Given the description of an element on the screen output the (x, y) to click on. 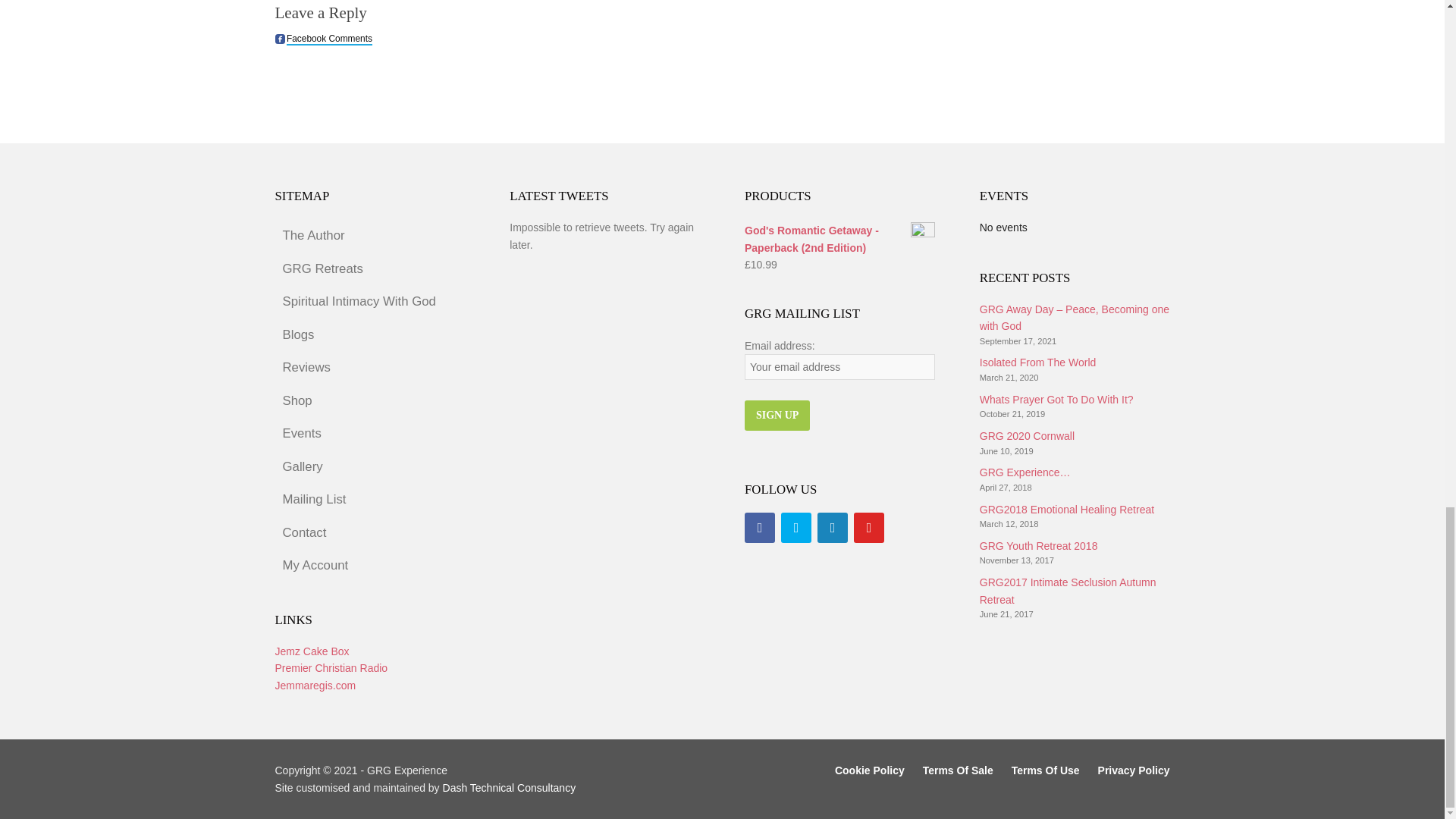
LinkedIn (831, 527)
Shop (369, 400)
Facebook Comments (279, 39)
Twitter (795, 527)
Mailing List (369, 499)
Jemmaregis.com (315, 685)
The Author (369, 235)
Events (369, 433)
Spiritual Intimacy With God (369, 301)
Blogs (369, 335)
Contact (369, 532)
GRG Retreats (369, 268)
Facebook Comments (329, 39)
Gallery (369, 467)
Premier Christian Radio (331, 667)
